Given the description of an element on the screen output the (x, y) to click on. 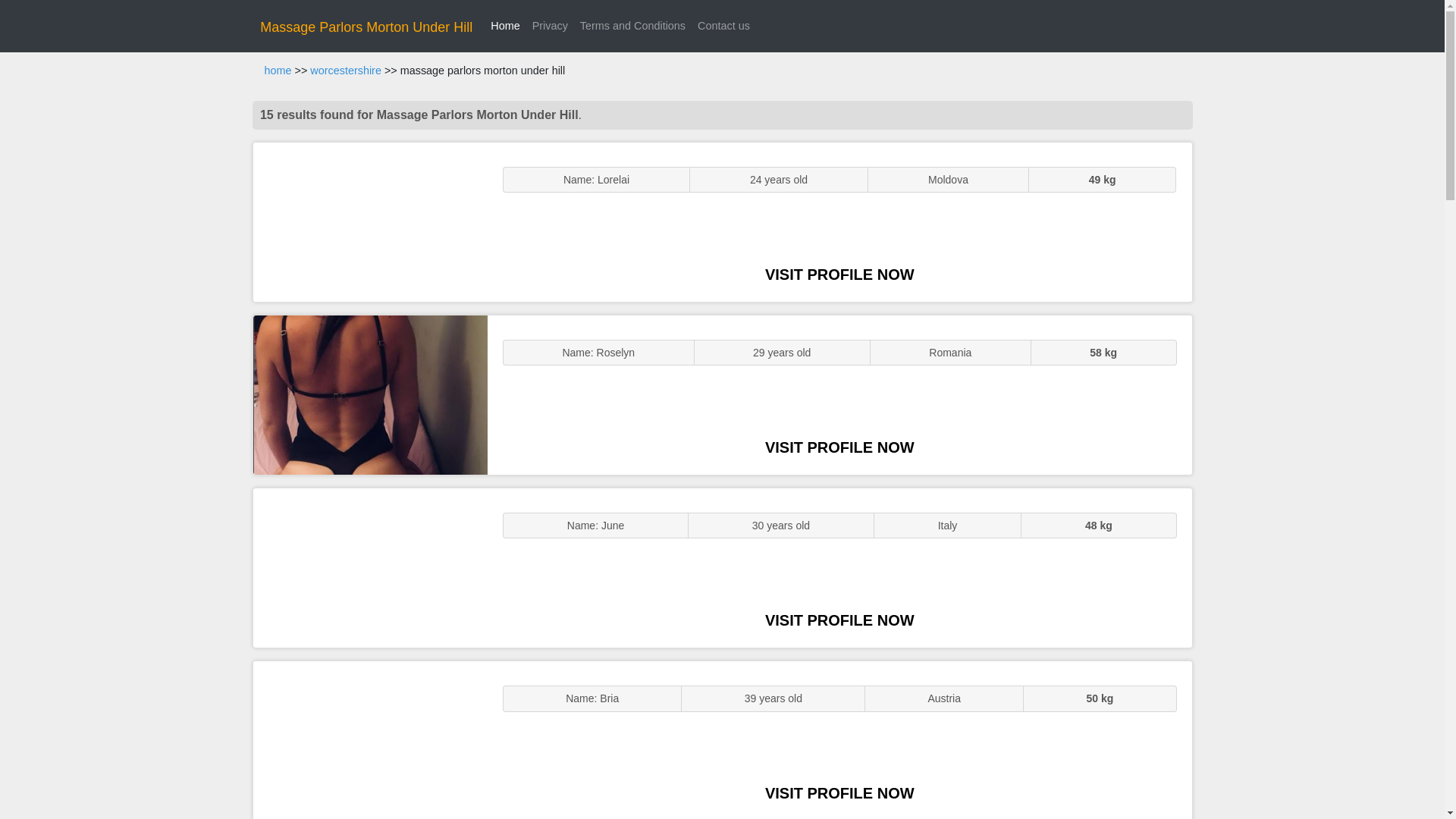
Terms and Conditions (632, 25)
worcestershire (345, 70)
VISIT PROFILE NOW (839, 446)
Privacy (549, 25)
Sexy (370, 567)
Contact us (723, 25)
home (277, 70)
Massage Parlors Morton Under Hill (365, 27)
VISIT PROFILE NOW (839, 792)
VISIT PROFILE NOW (839, 619)
